Given the description of an element on the screen output the (x, y) to click on. 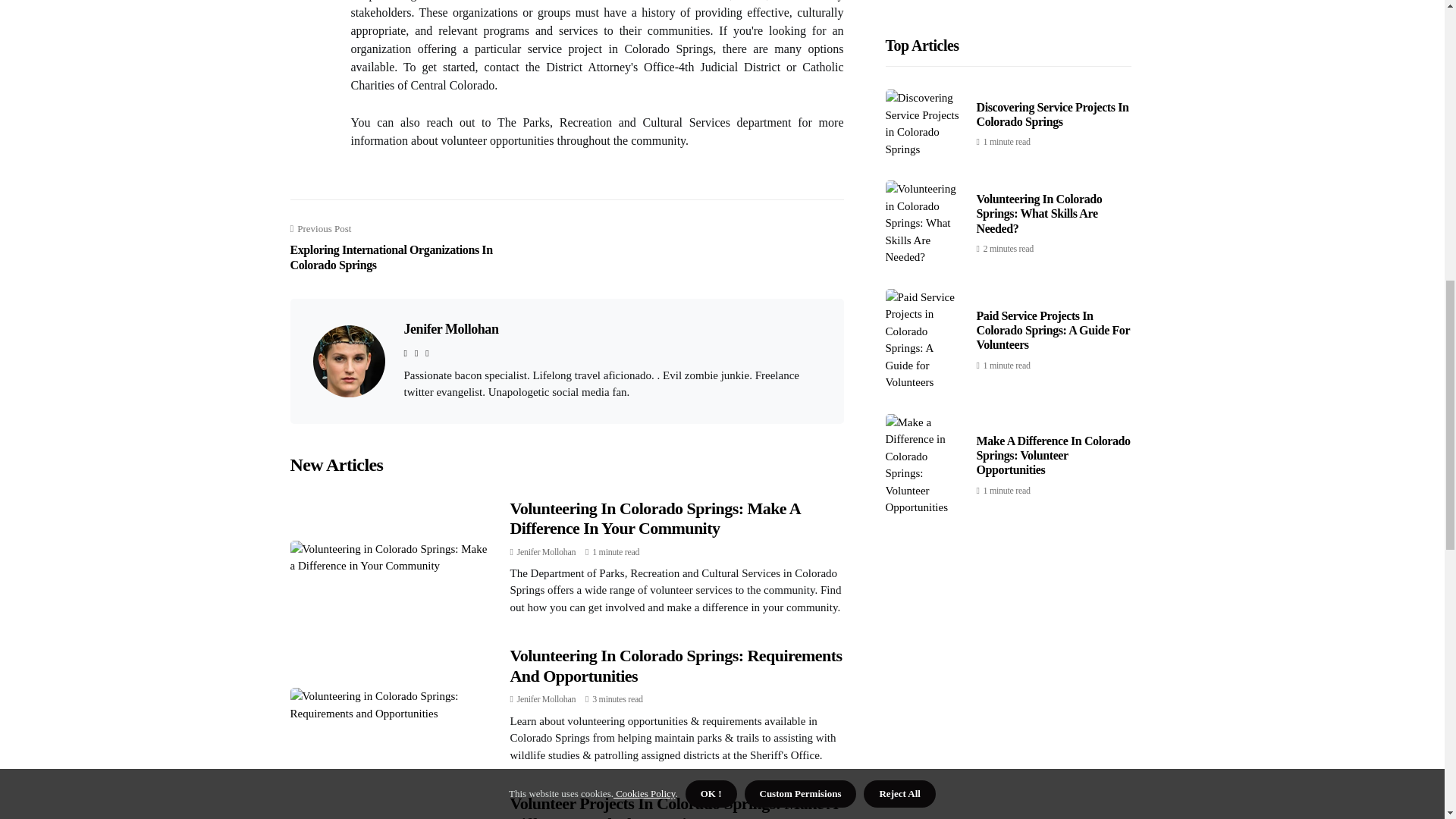
Jenifer Mollohan (546, 552)
Posts by Jenifer Mollohan (546, 698)
Jenifer Mollohan (546, 698)
Posts by Jenifer Mollohan (546, 552)
Jenifer Mollohan (450, 328)
